Given the description of an element on the screen output the (x, y) to click on. 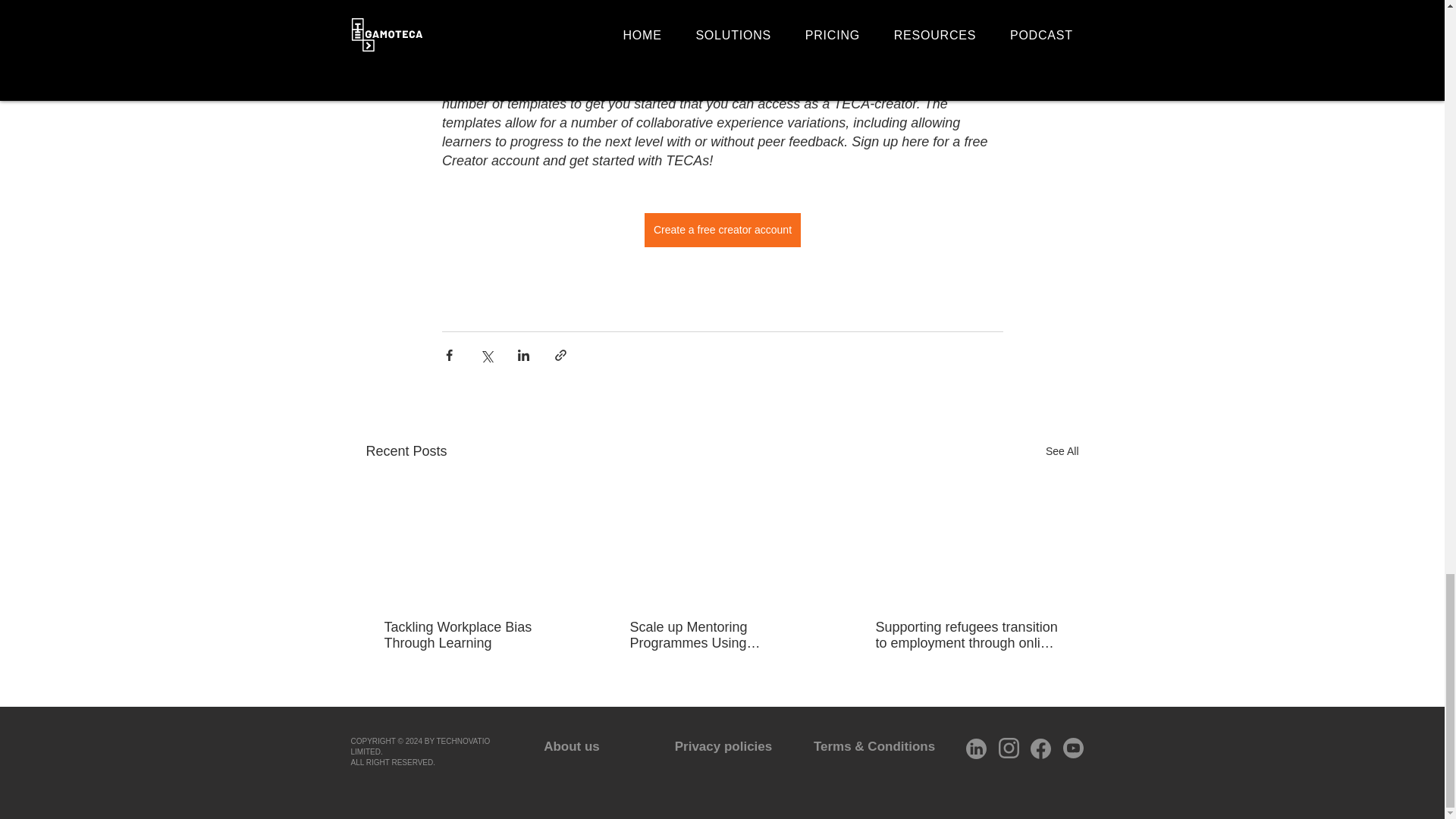
See All (1061, 451)
Tackling Workplace Bias Through Learning (475, 635)
Create a free creator account (721, 229)
